Given the description of an element on the screen output the (x, y) to click on. 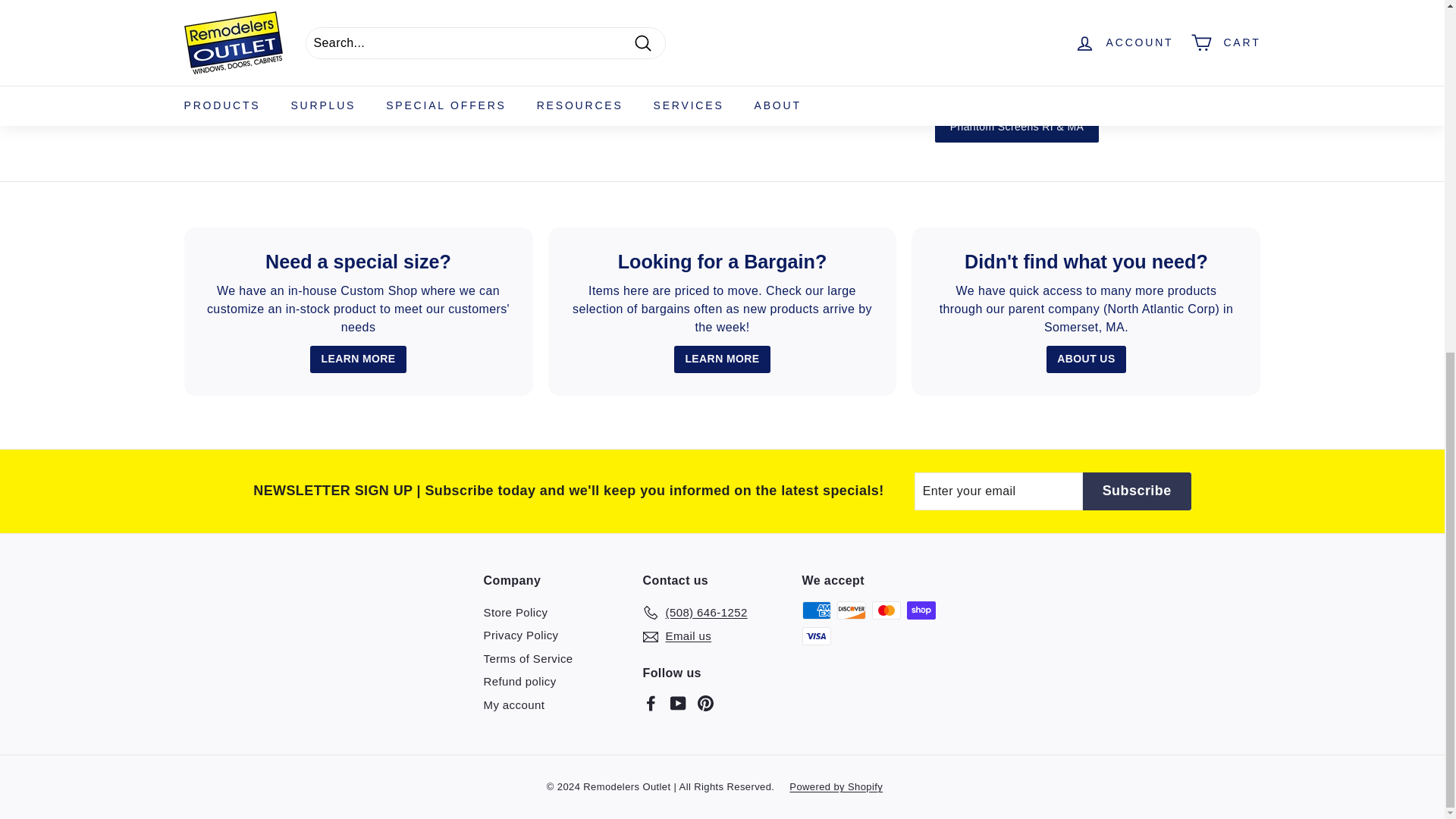
Mastercard (886, 610)
Remodelers Outlet on Facebook (651, 702)
Remodelers Outlet on YouTube (677, 702)
Remodelers Outlet on Pinterest (705, 702)
Discover (851, 610)
American Express (816, 610)
Visa (816, 636)
Shop Pay (921, 610)
